Given the description of an element on the screen output the (x, y) to click on. 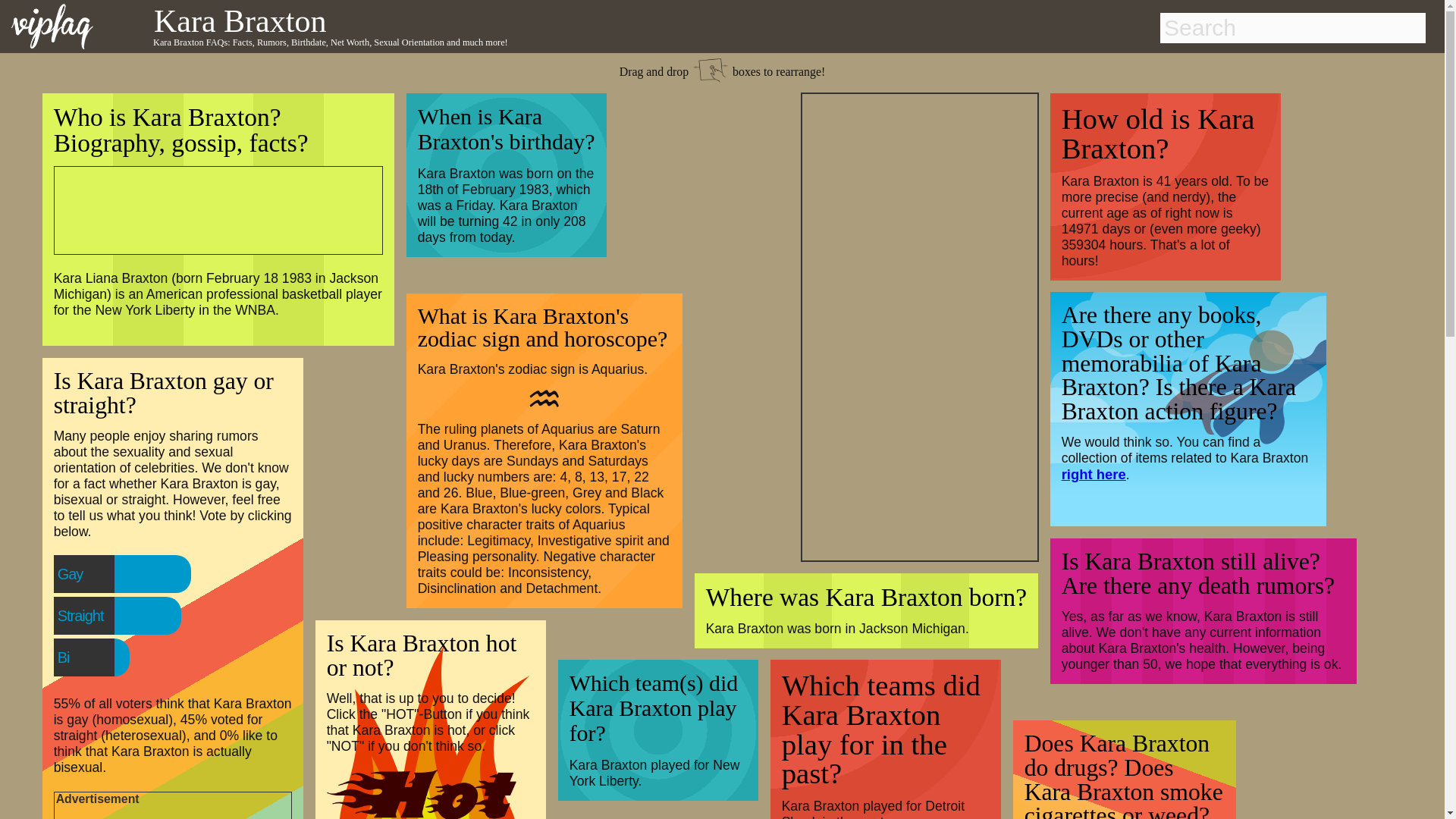
right here (1093, 474)
Straight (111, 615)
Advertisement (171, 813)
Bi (94, 657)
Gay (101, 573)
Advertisement (209, 208)
